Given the description of an element on the screen output the (x, y) to click on. 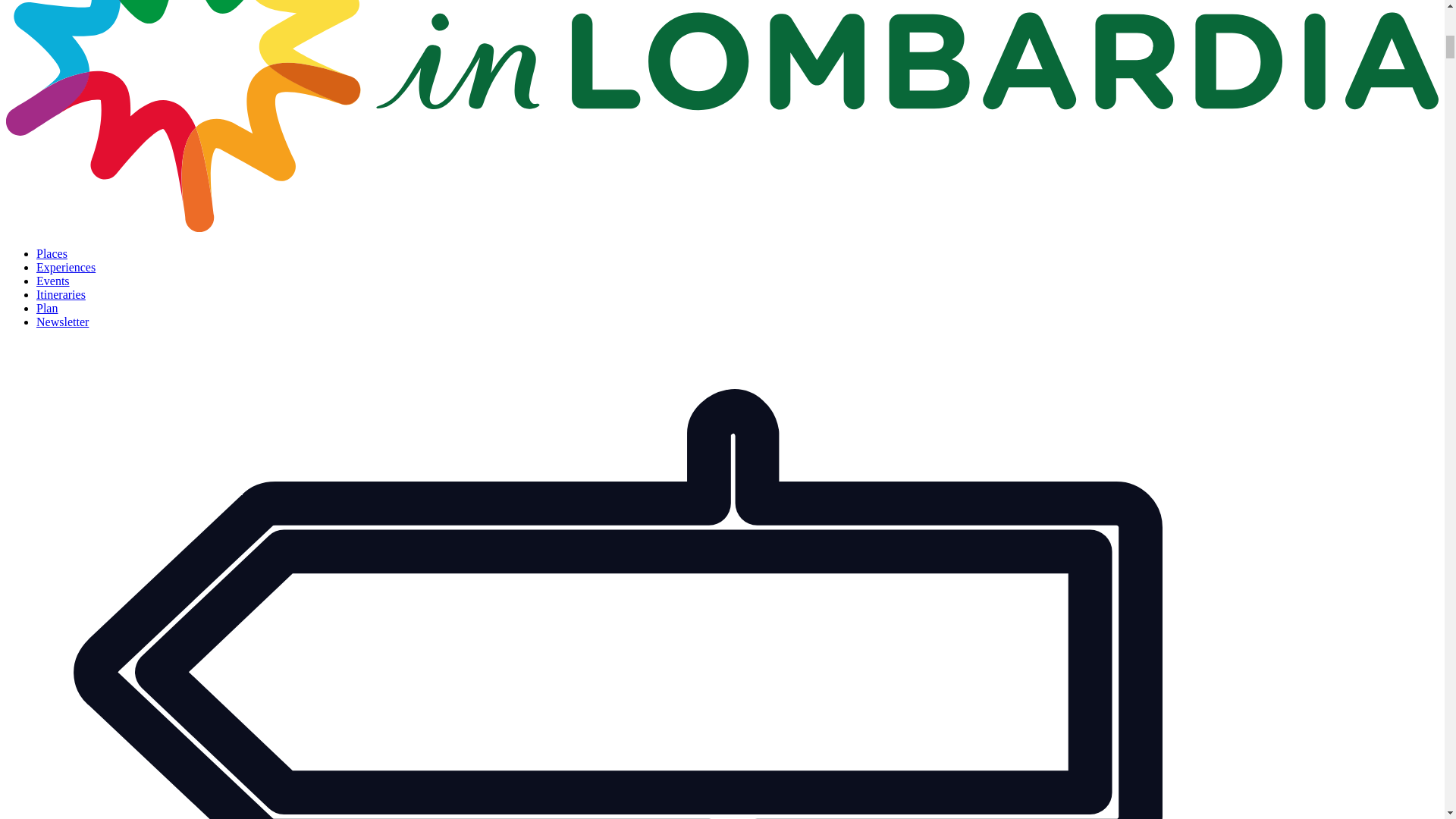
Events (52, 280)
Plan (47, 308)
Experiences (66, 267)
Itineraries (60, 294)
Places (51, 253)
Newsletter (62, 321)
